Given the description of an element on the screen output the (x, y) to click on. 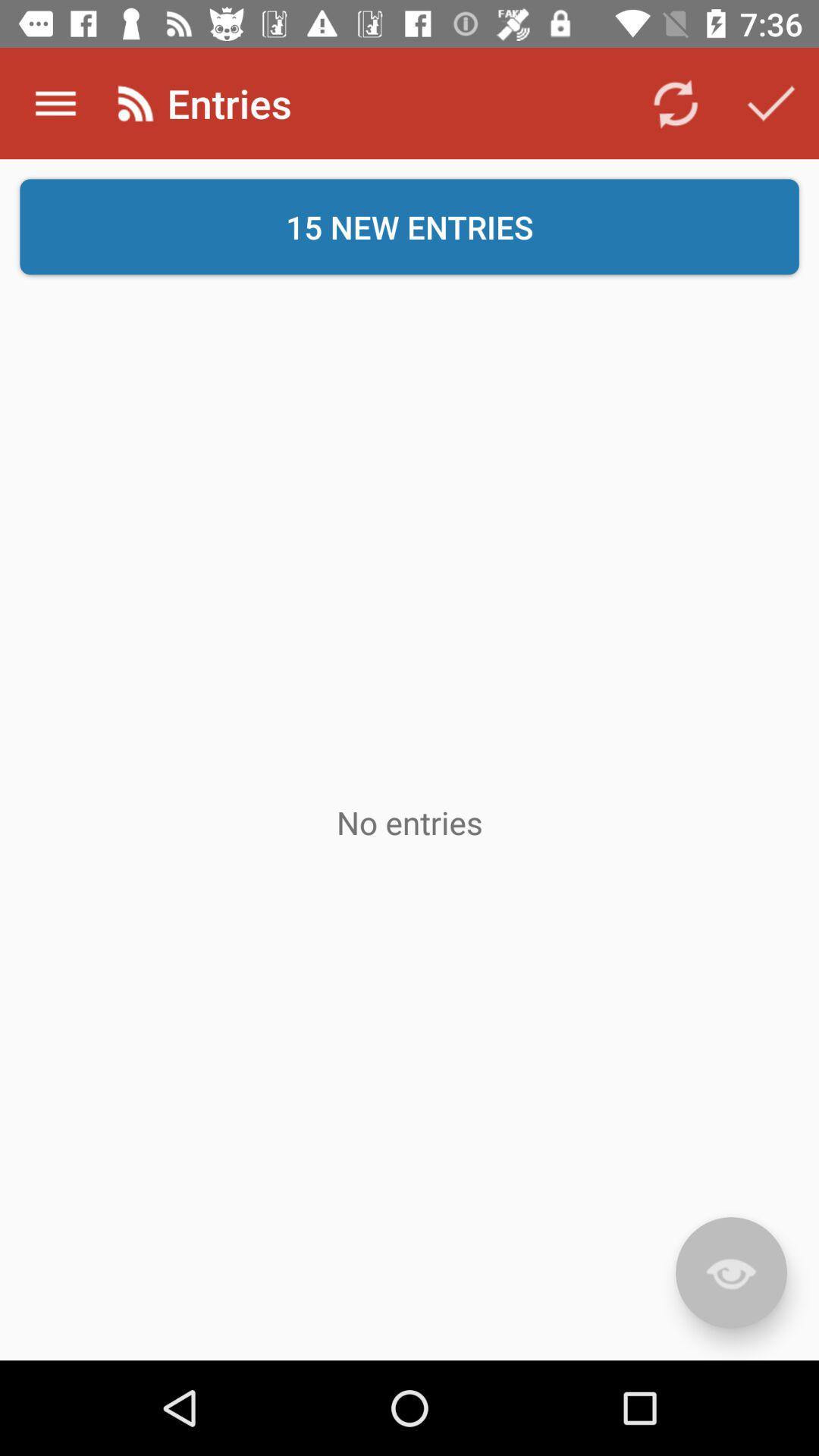
turn on icon below the 15 new entries (409, 822)
